Given the description of an element on the screen output the (x, y) to click on. 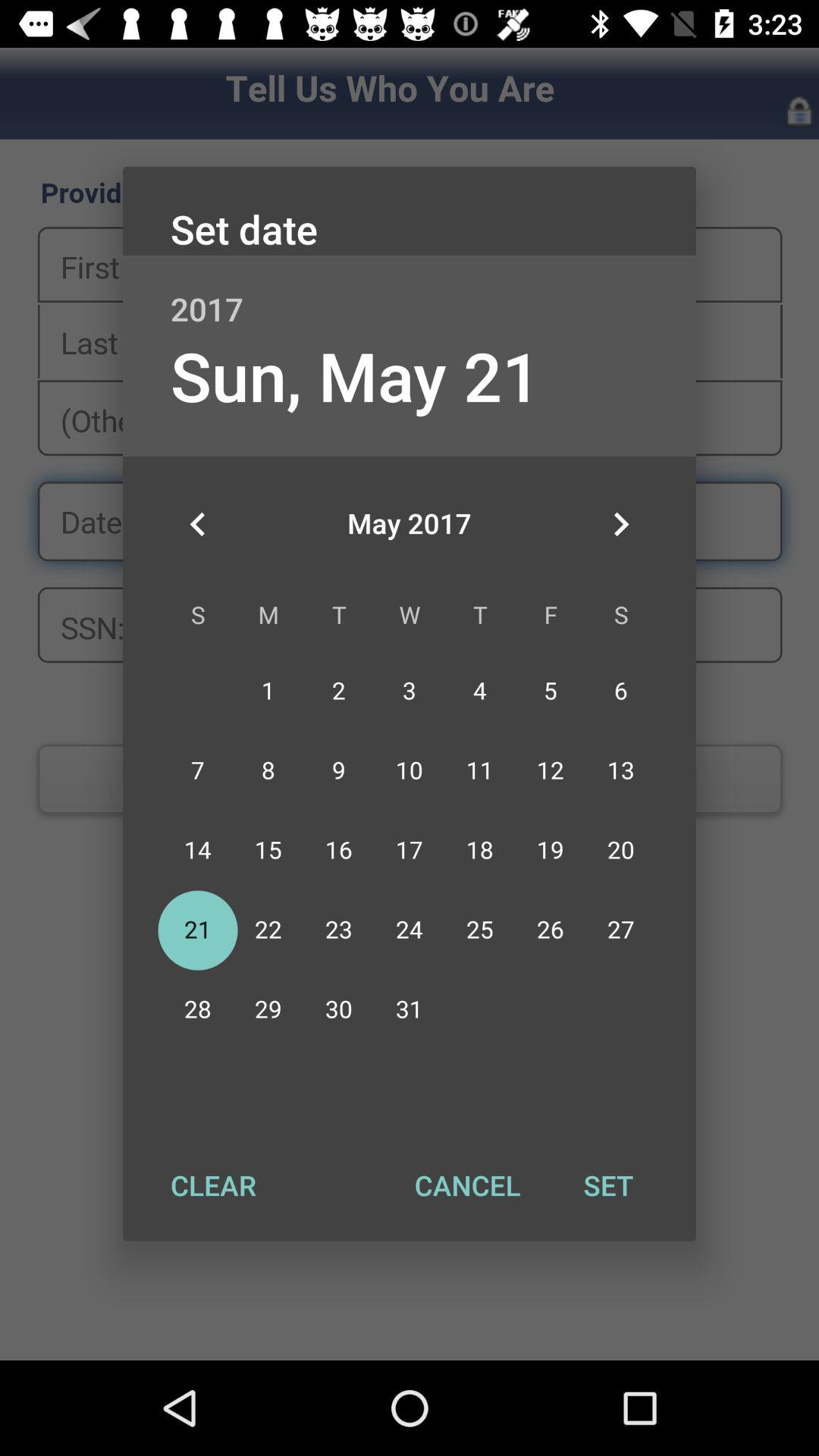
turn off the item to the left of the set button (467, 1185)
